Given the description of an element on the screen output the (x, y) to click on. 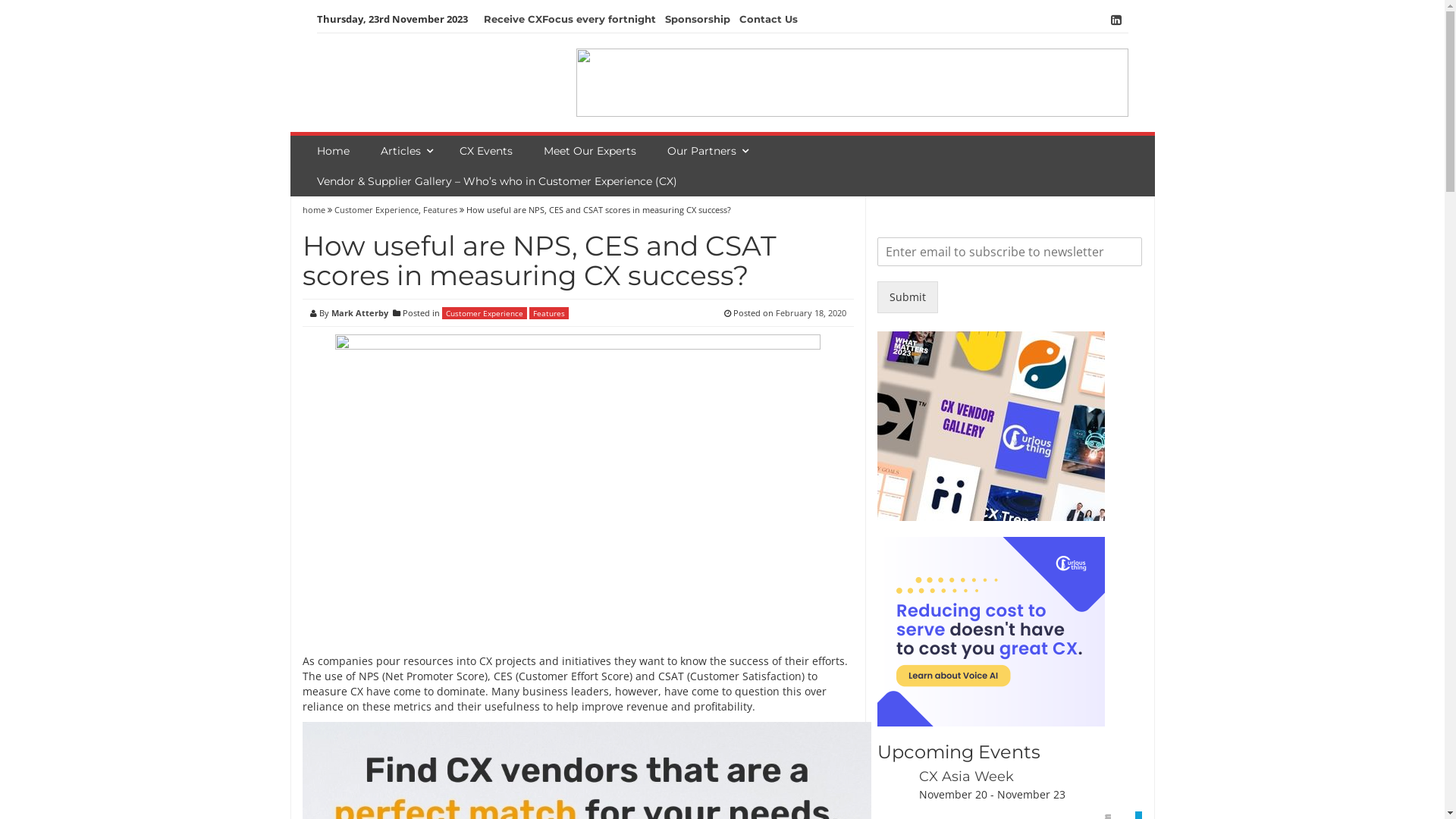
Customer Experience Element type: text (483, 313)
Articles Element type: text (402, 150)
Sponsorship Element type: text (696, 19)
Receive CXFocus every fortnight Element type: text (569, 19)
Customer Experience Element type: text (375, 209)
home Element type: text (313, 209)
Contact Us Element type: text (767, 19)
Our Partners Element type: text (703, 150)
CX Asia Week Element type: text (966, 776)
Home Element type: text (334, 150)
Features Element type: text (440, 209)
Features Element type: text (548, 313)
Meet Our Experts Element type: text (590, 150)
Mark Atterby Element type: text (358, 312)
Submit Element type: text (907, 297)
CX Events Element type: text (487, 150)
February 18, 2020 Element type: text (810, 312)
